Given the description of an element on the screen output the (x, y) to click on. 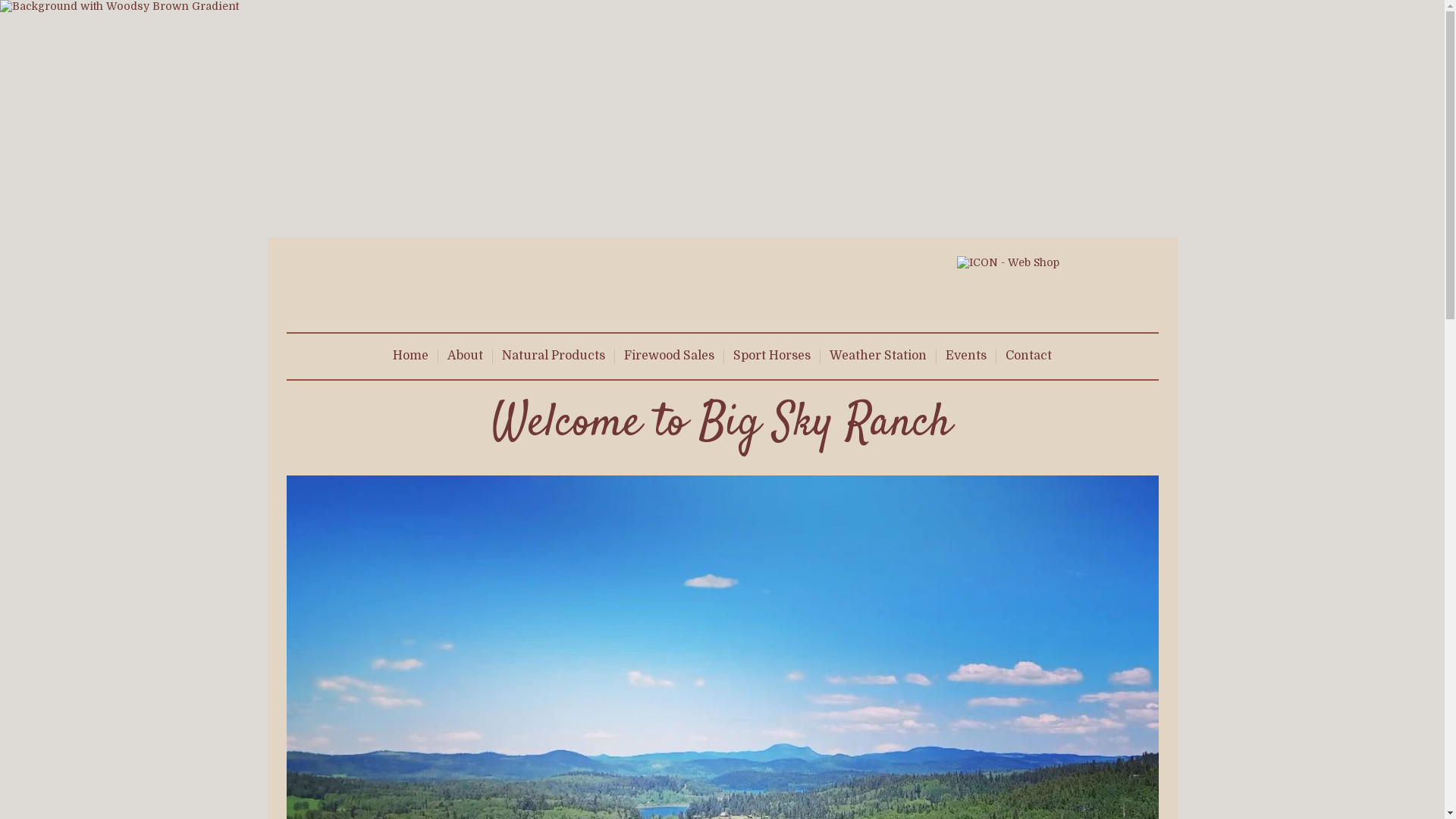
Home Element type: text (410, 355)
Events Element type: text (965, 355)
About Element type: text (465, 355)
Natural Products Element type: text (553, 355)
Weather Station Element type: text (877, 355)
Firewood Sales Element type: text (669, 355)
Sport Horses Element type: text (771, 355)
Contact Element type: text (1028, 355)
